Given the description of an element on the screen output the (x, y) to click on. 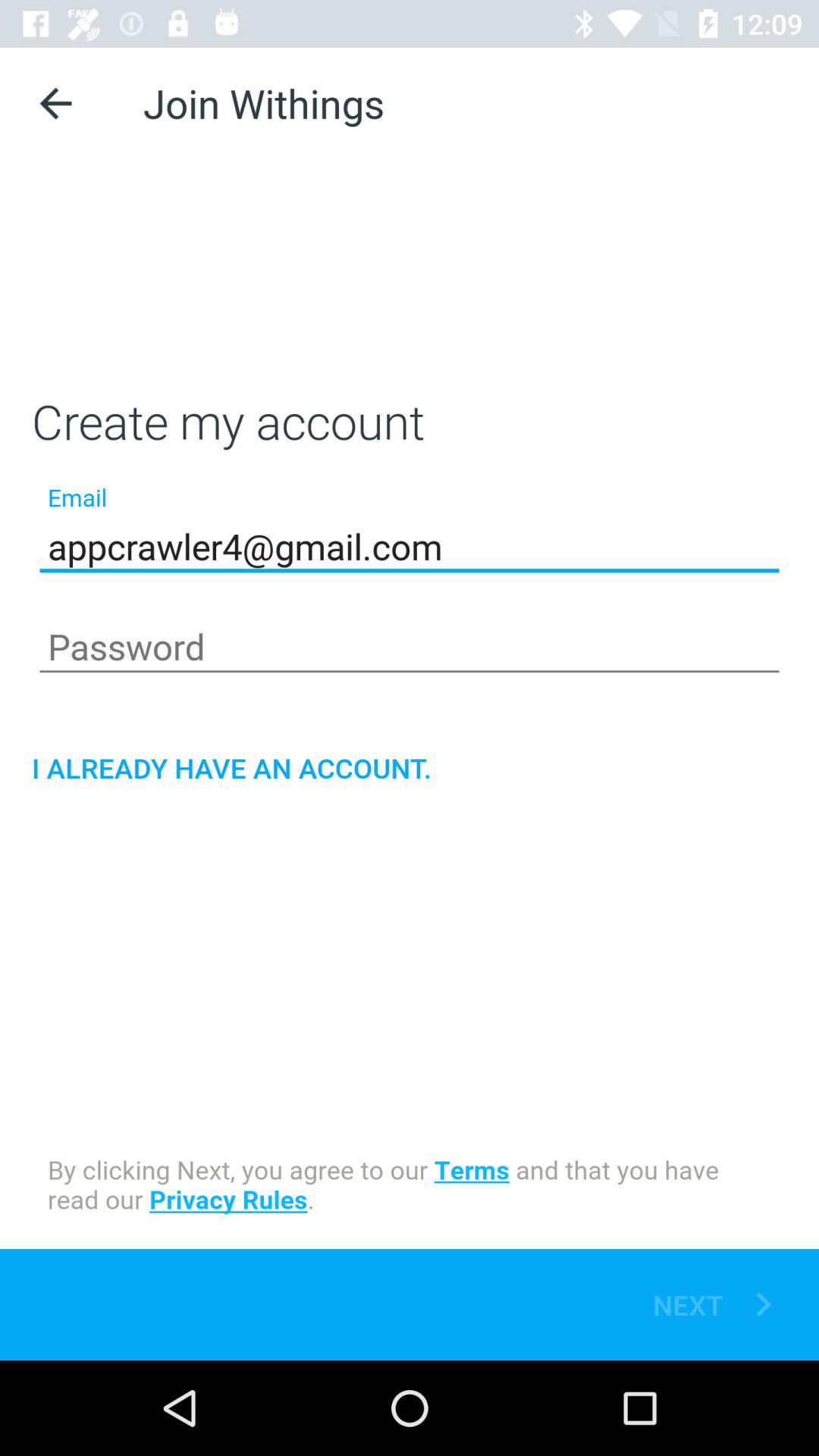
go back (55, 103)
